Given the description of an element on the screen output the (x, y) to click on. 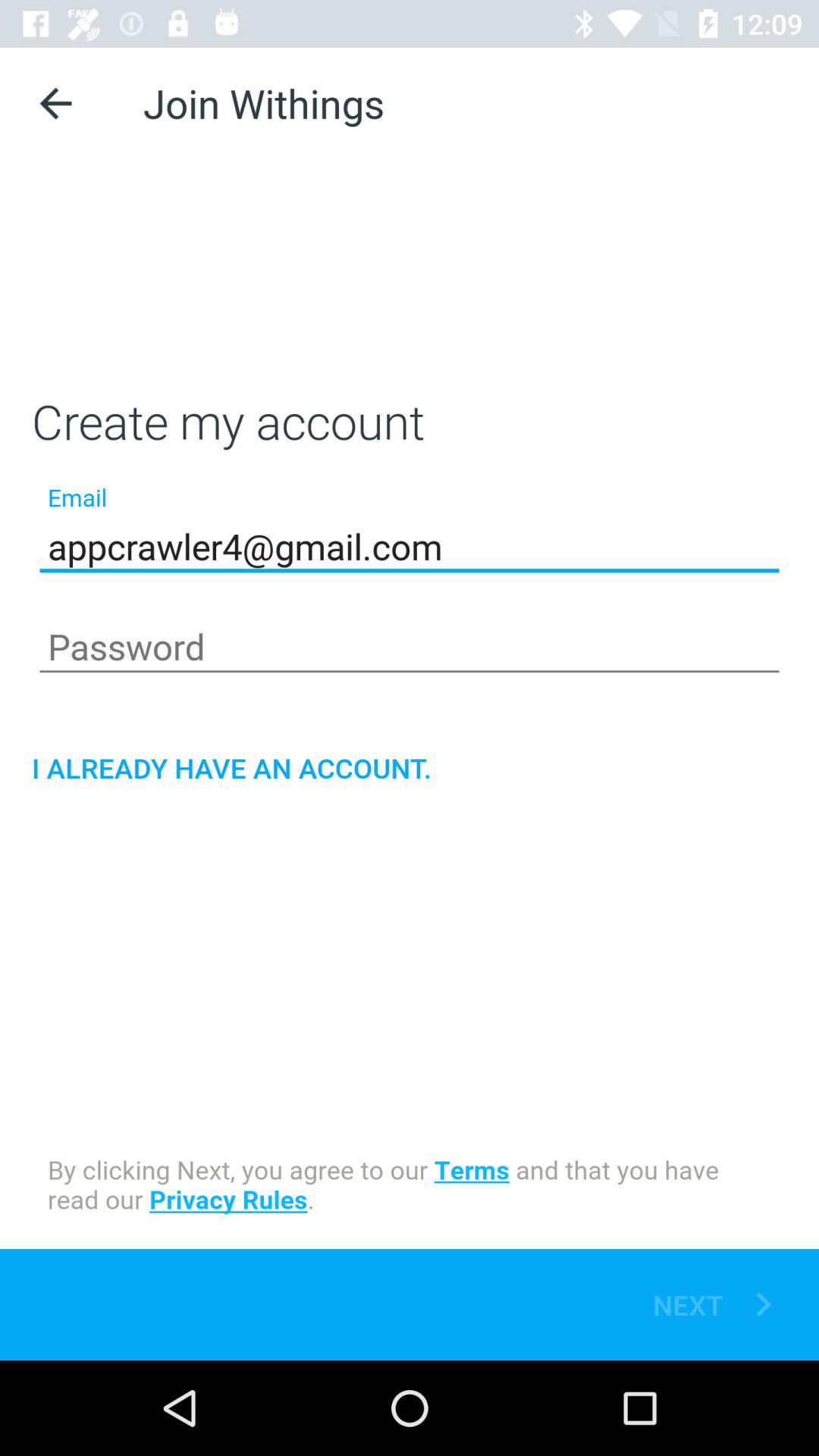
go back (55, 103)
